Given the description of an element on the screen output the (x, y) to click on. 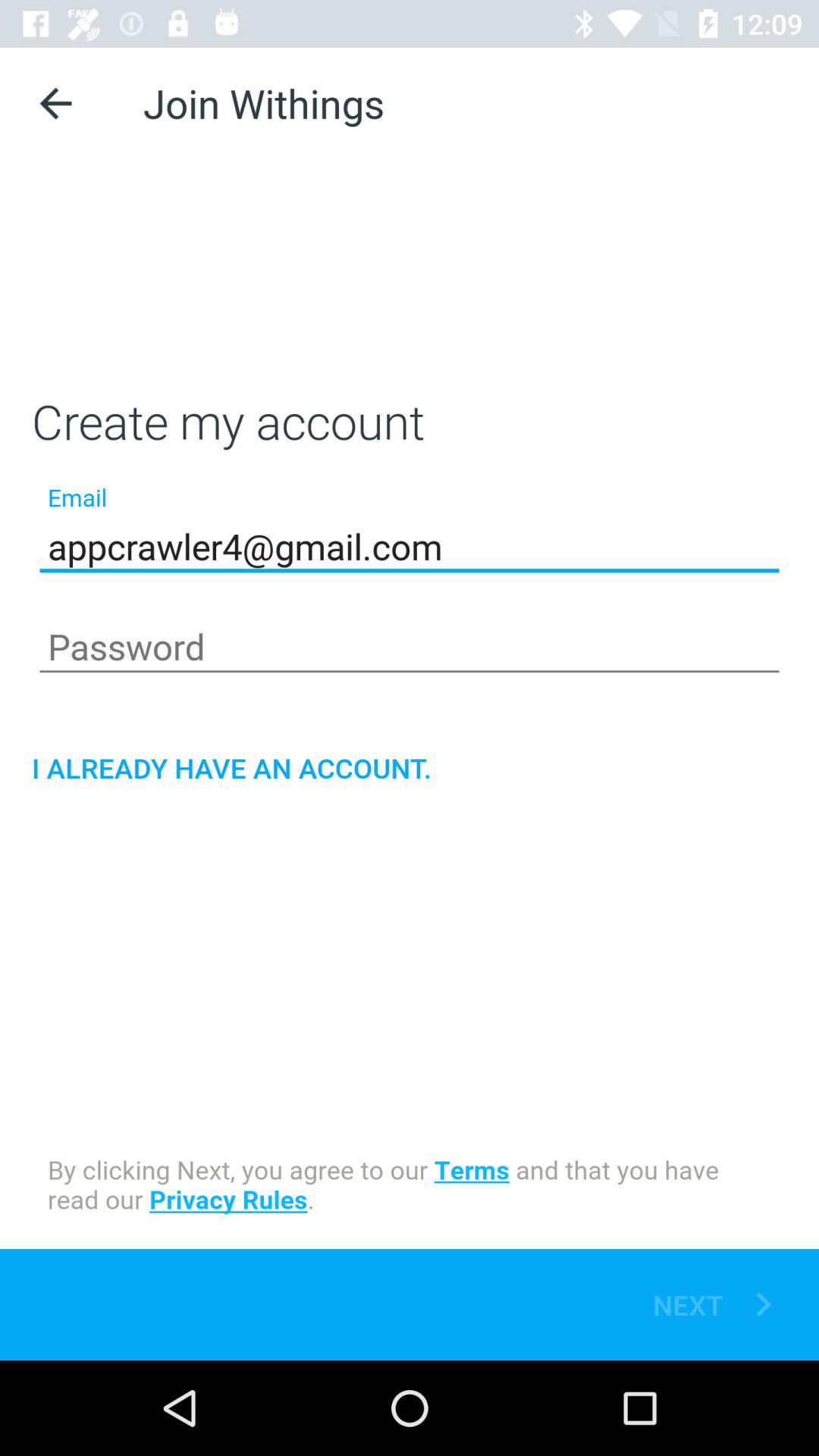
go back (55, 103)
